Given the description of an element on the screen output the (x, y) to click on. 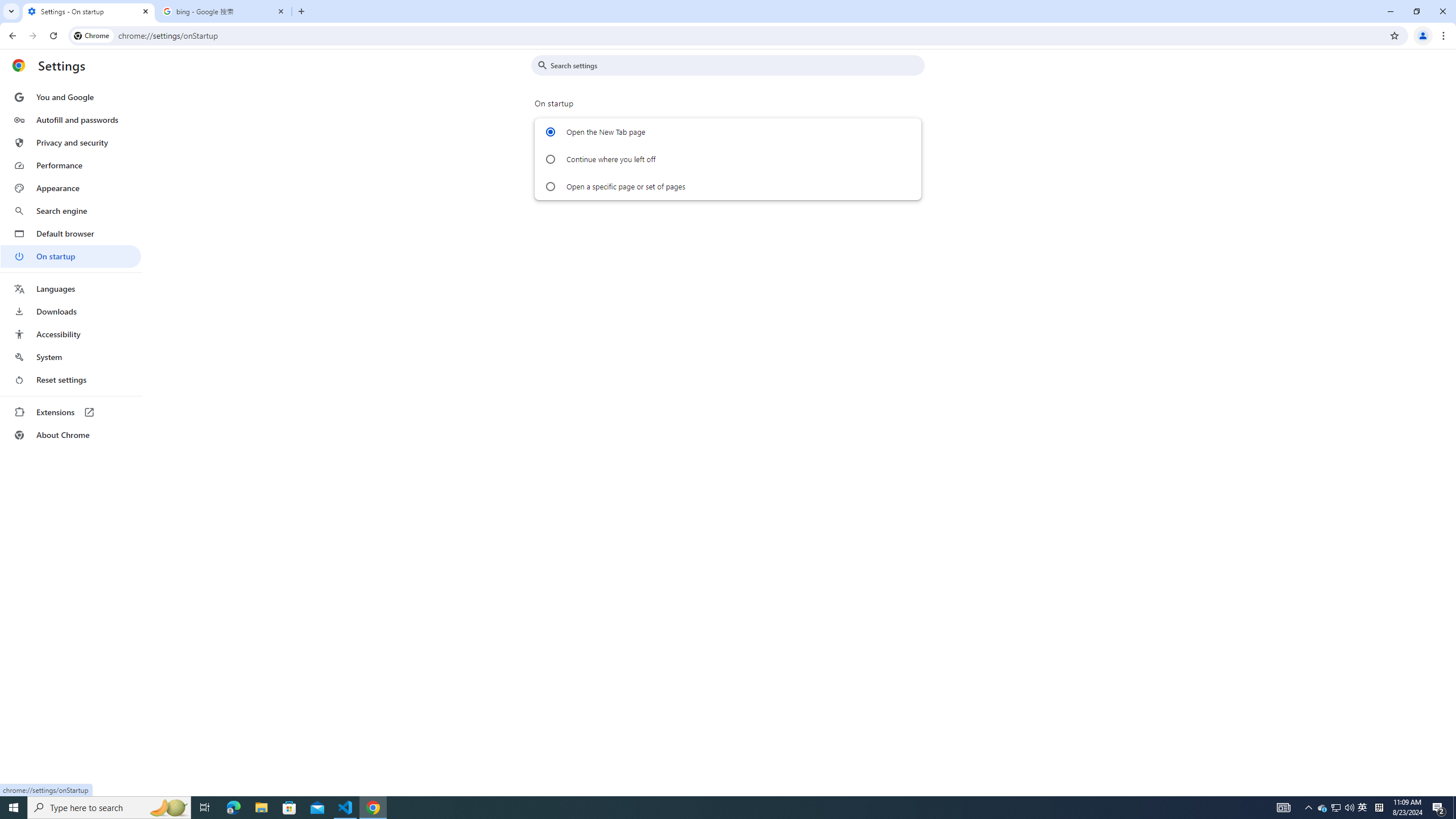
Performance (70, 164)
Continue where you left off (550, 159)
You and Google (70, 96)
Settings - On startup (88, 11)
Open the New Tab page (550, 131)
Privacy and security (70, 142)
Autofill and passwords (70, 119)
AutomationID: menu (71, 265)
